Given the description of an element on the screen output the (x, y) to click on. 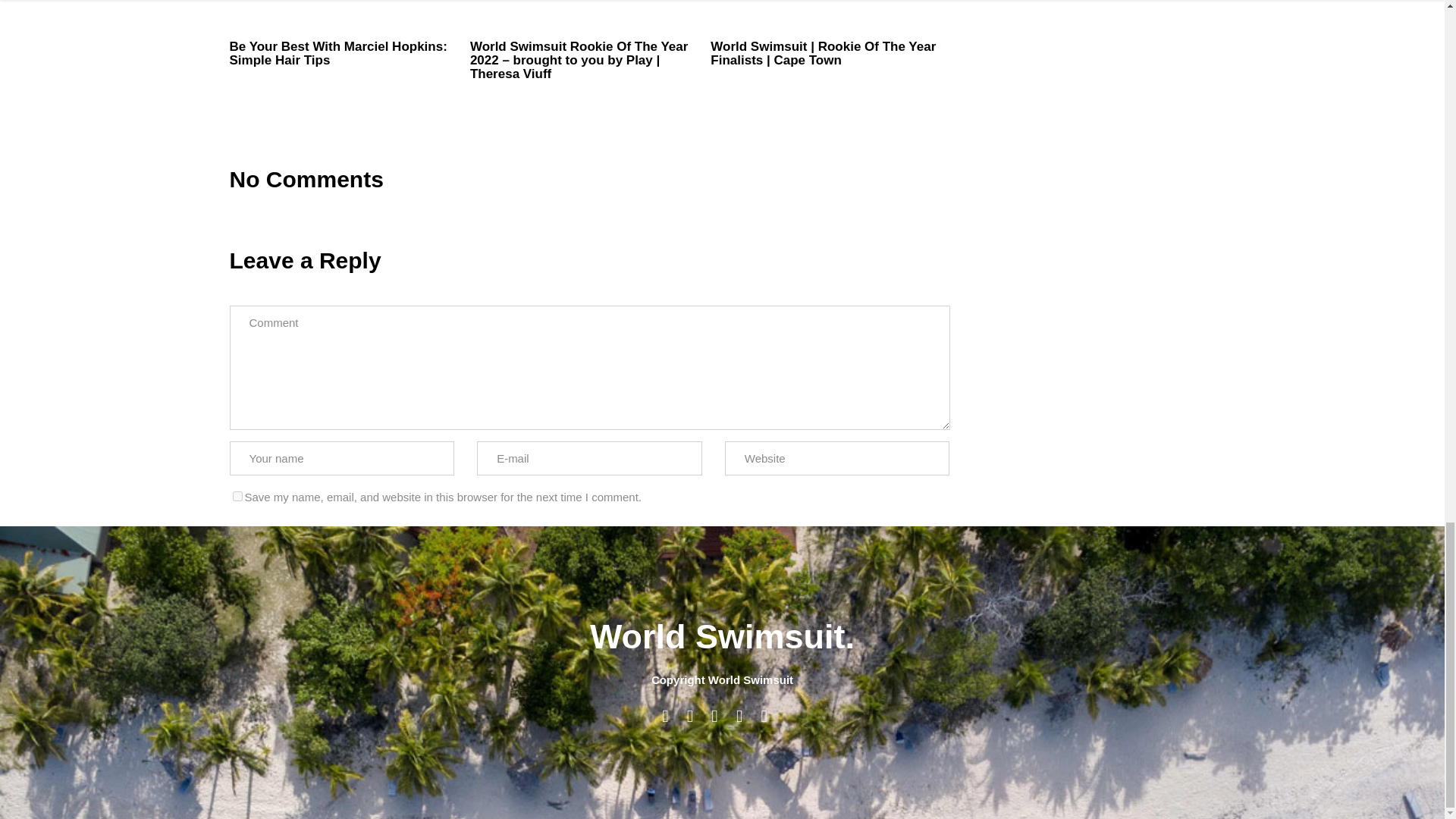
yes (236, 496)
Be Your Best With Marciel Hopkins: Simple Hair Tips (347, 53)
Be Your Best With Marciel Hopkins: Simple Hair Tips (347, 53)
